Given the description of an element on the screen output the (x, y) to click on. 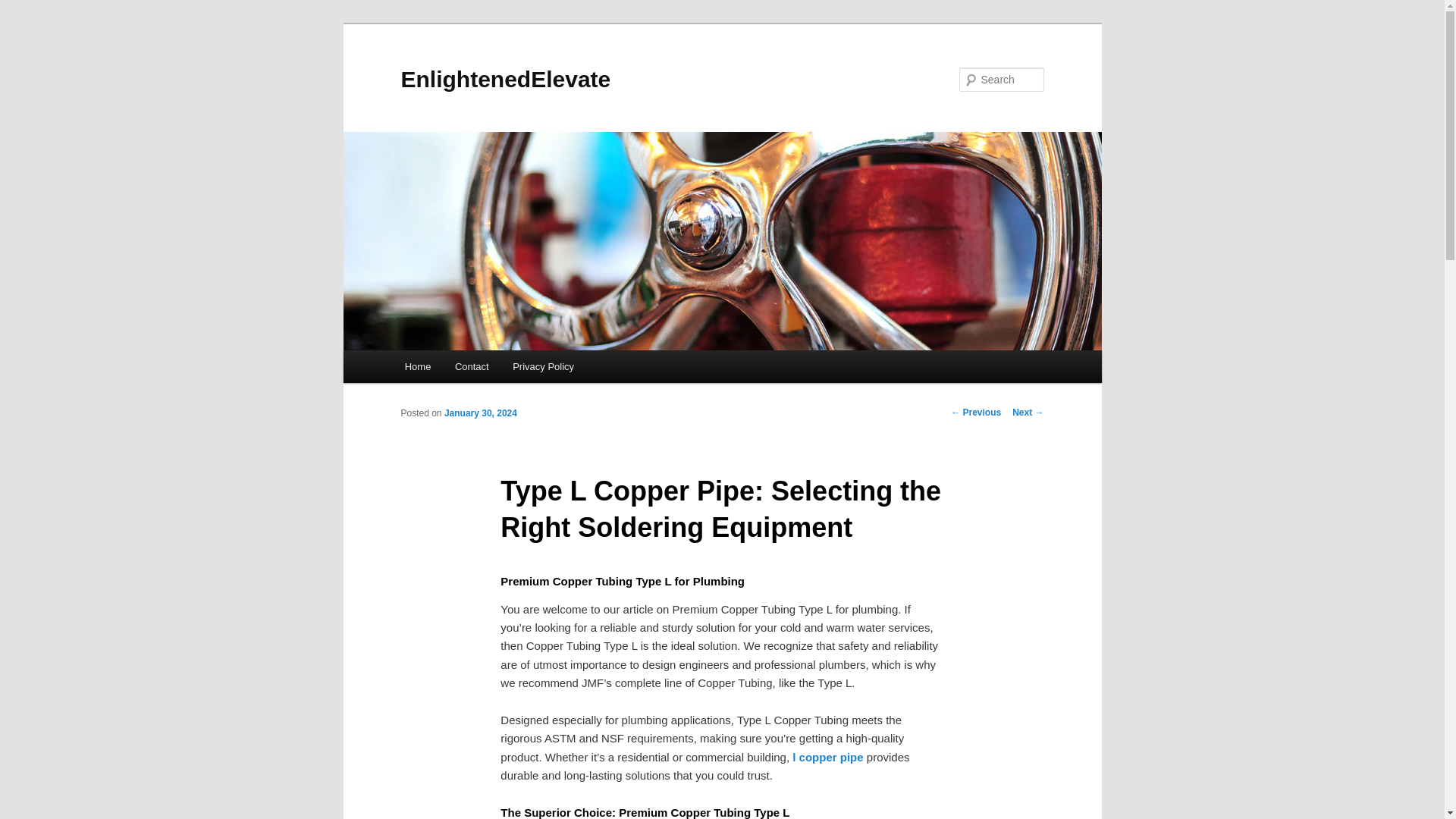
Home (417, 366)
Privacy Policy (542, 366)
Search (24, 8)
11:24 pm (480, 412)
January 30, 2024 (480, 412)
Contact (471, 366)
l copper pipe (827, 757)
EnlightenedElevate (505, 78)
